Given the description of an element on the screen output the (x, y) to click on. 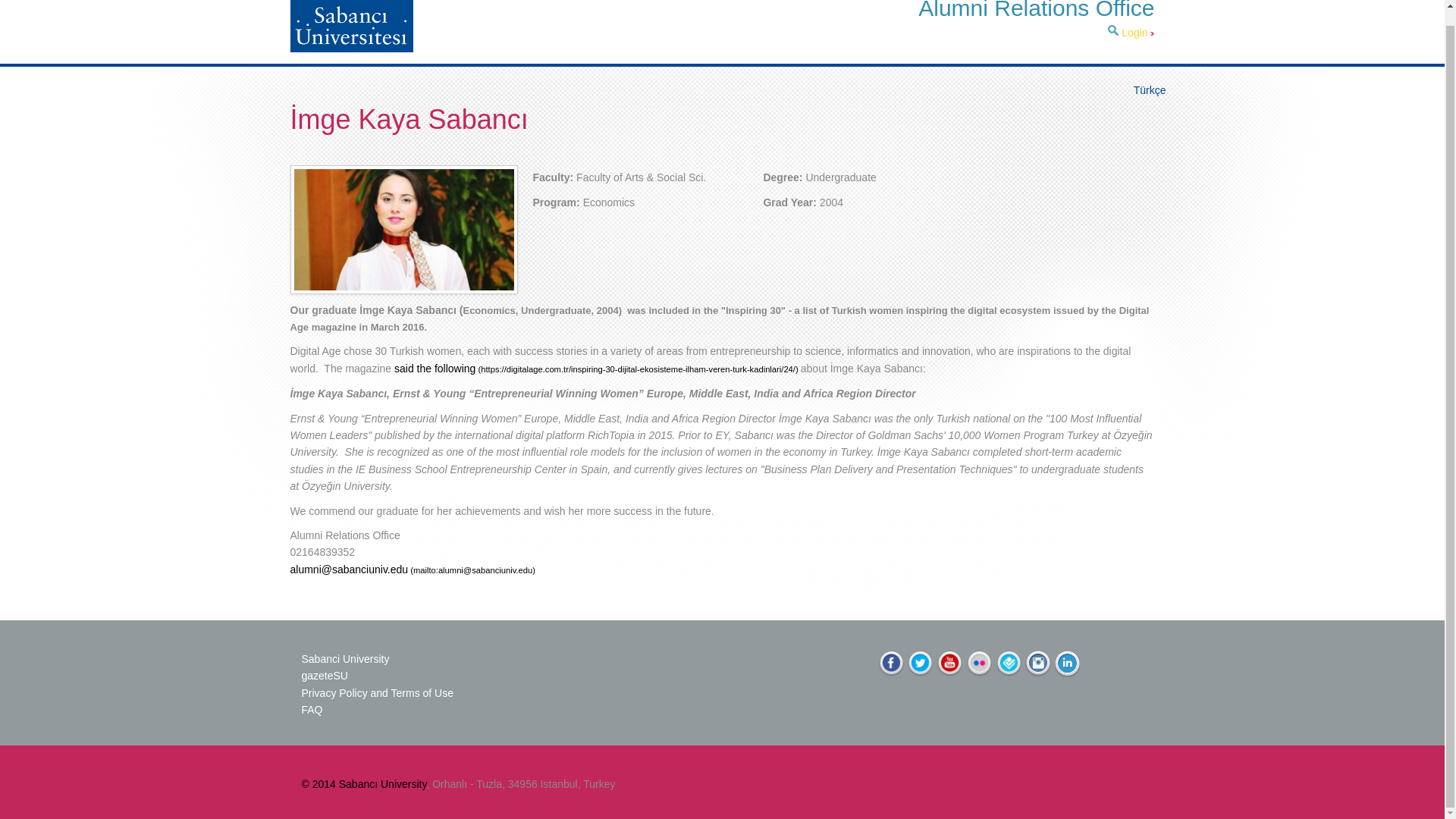
Privacy Policy and Terms of Use (376, 693)
Sabanci University (345, 658)
Login (1137, 32)
gazeteSU  (325, 675)
said the following (597, 368)
FAQ (312, 709)
